Given the description of an element on the screen output the (x, y) to click on. 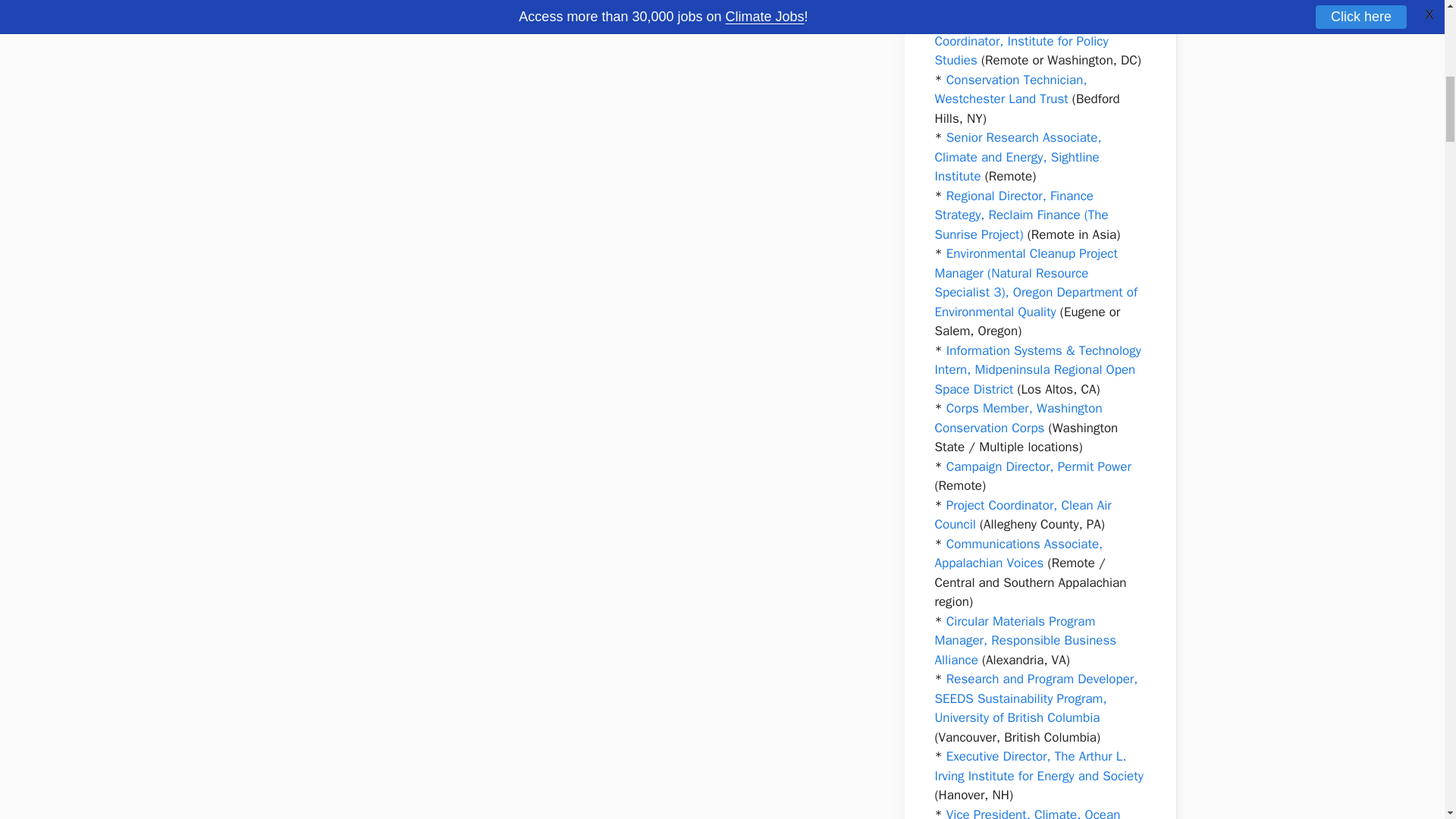
Conservation Technician, Westchester Land Trust (1010, 89)
